Given the description of an element on the screen output the (x, y) to click on. 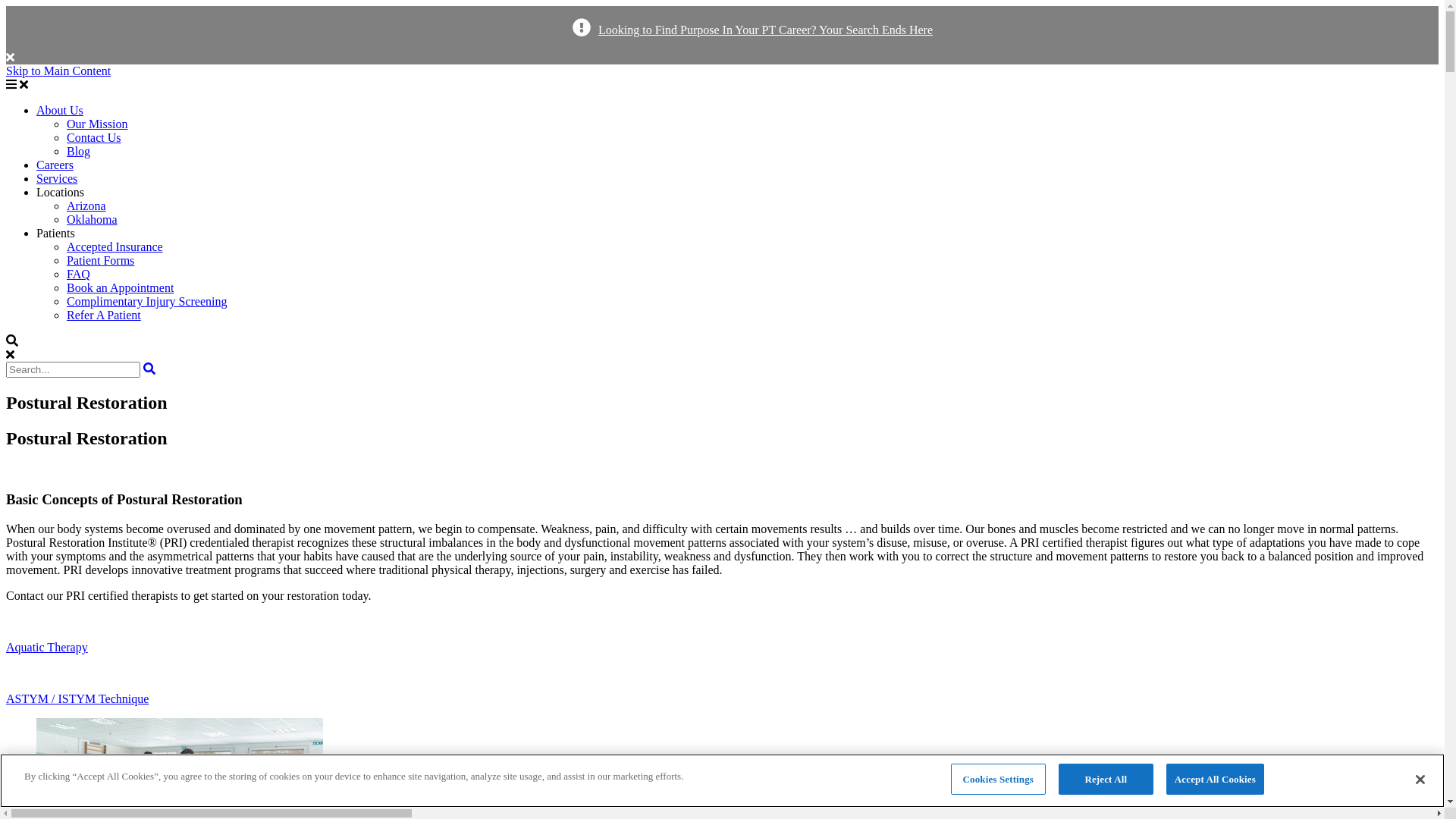
Reject All Element type: text (1105, 779)
Skip to Main Content Element type: text (58, 70)
Refer A Patient Element type: text (103, 314)
Accepted Insurance Element type: text (114, 246)
Arizona Element type: text (86, 205)
FAQ Element type: text (78, 273)
Cookies Settings Element type: text (997, 779)
Careers Element type: text (54, 164)
Patients Element type: text (55, 232)
Contact Us Element type: text (93, 137)
Our Mission Element type: text (96, 123)
Complimentary Injury Screening Element type: text (146, 300)
Patient Forms Element type: text (100, 260)
Click to Search Element type: hover (149, 368)
Services Element type: text (56, 178)
Accept All Cookies Element type: text (1215, 779)
Locations Element type: text (60, 191)
Oklahoma Element type: text (91, 219)
Book an Appointment Element type: text (119, 287)
Aquatic Therapy Element type: text (722, 634)
Blog Element type: text (78, 150)
About Us Element type: text (59, 109)
ASTYM / ISTYM Technique Element type: text (722, 685)
